Given the description of an element on the screen output the (x, y) to click on. 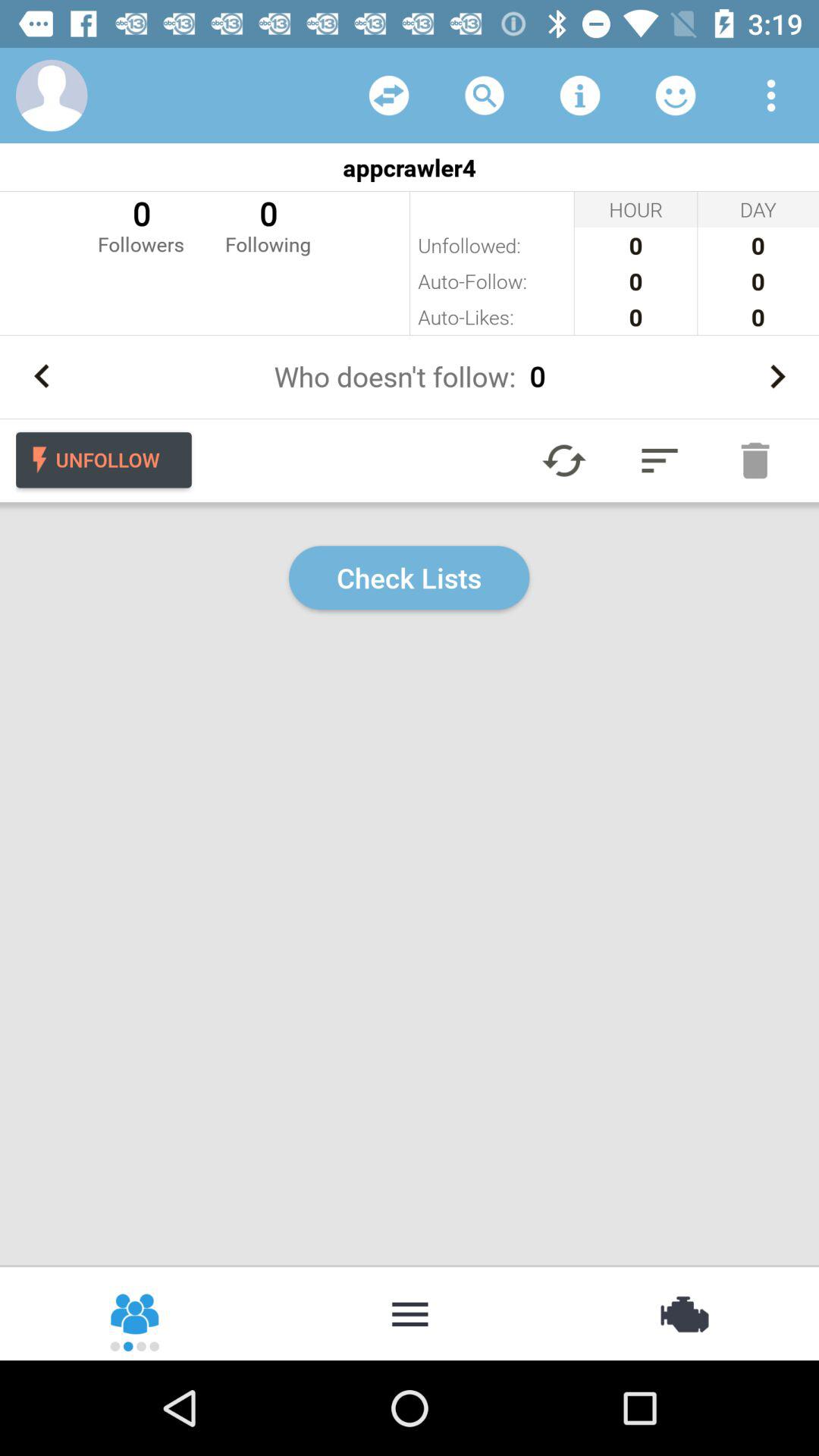
choose icon to the left of the who doesn t (41, 376)
